Given the description of an element on the screen output the (x, y) to click on. 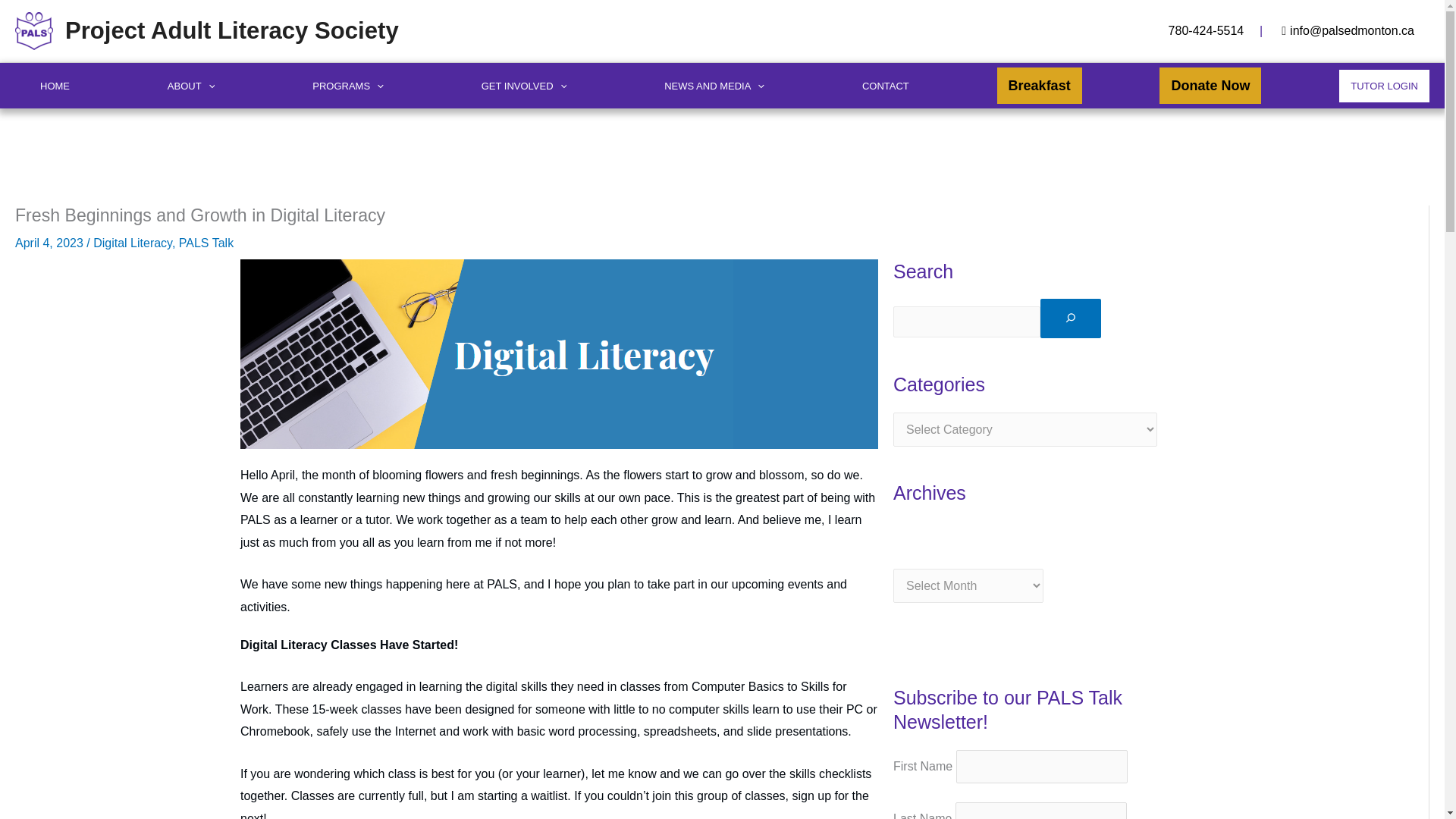
PROGRAMS (347, 85)
HOME (55, 85)
NEWS AND MEDIA (713, 85)
GET INVOLVED (523, 85)
Project Adult Literacy Society (231, 30)
ABOUT (191, 85)
